Given the description of an element on the screen output the (x, y) to click on. 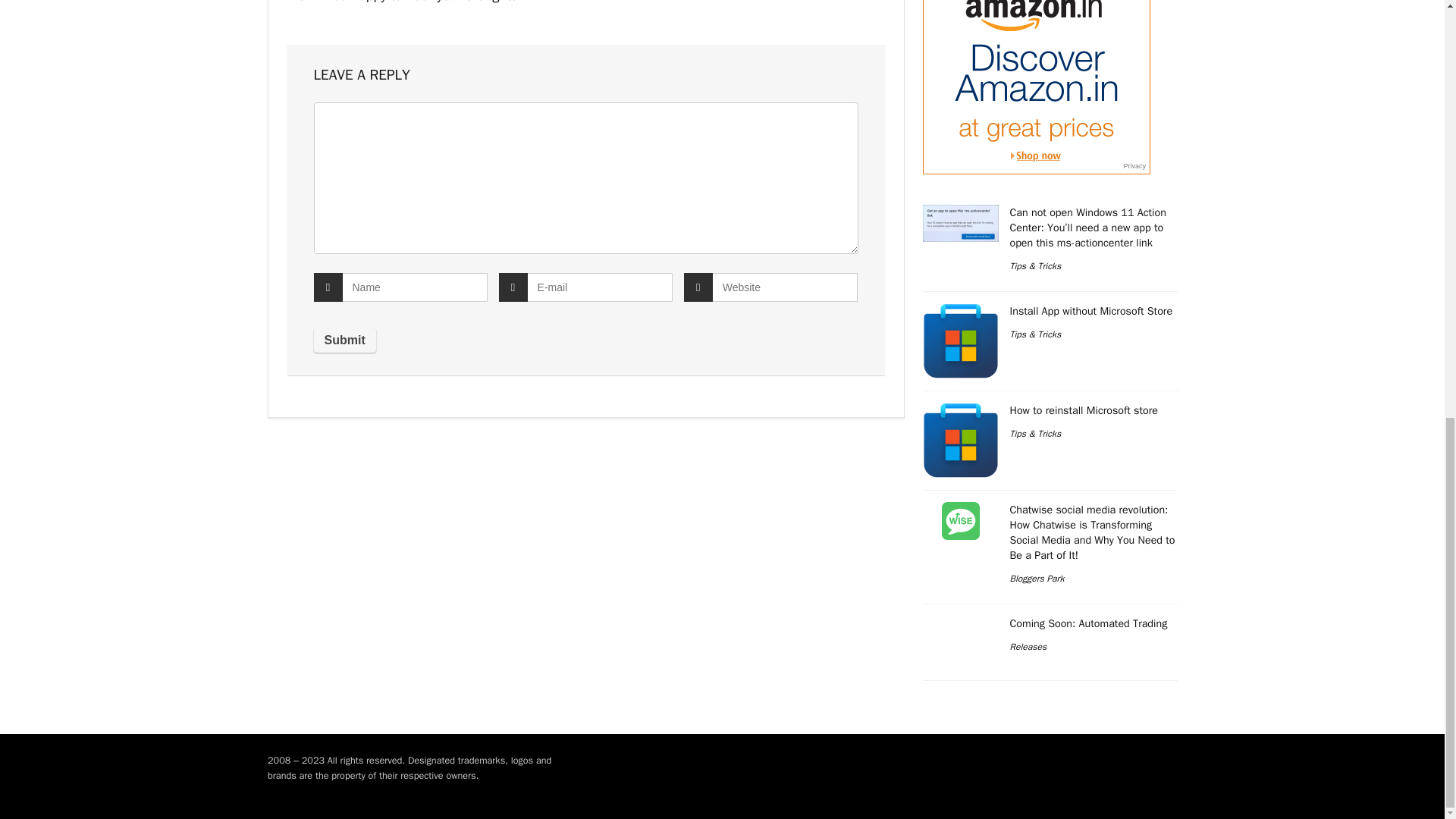
Submit (344, 340)
